Given the description of an element on the screen output the (x, y) to click on. 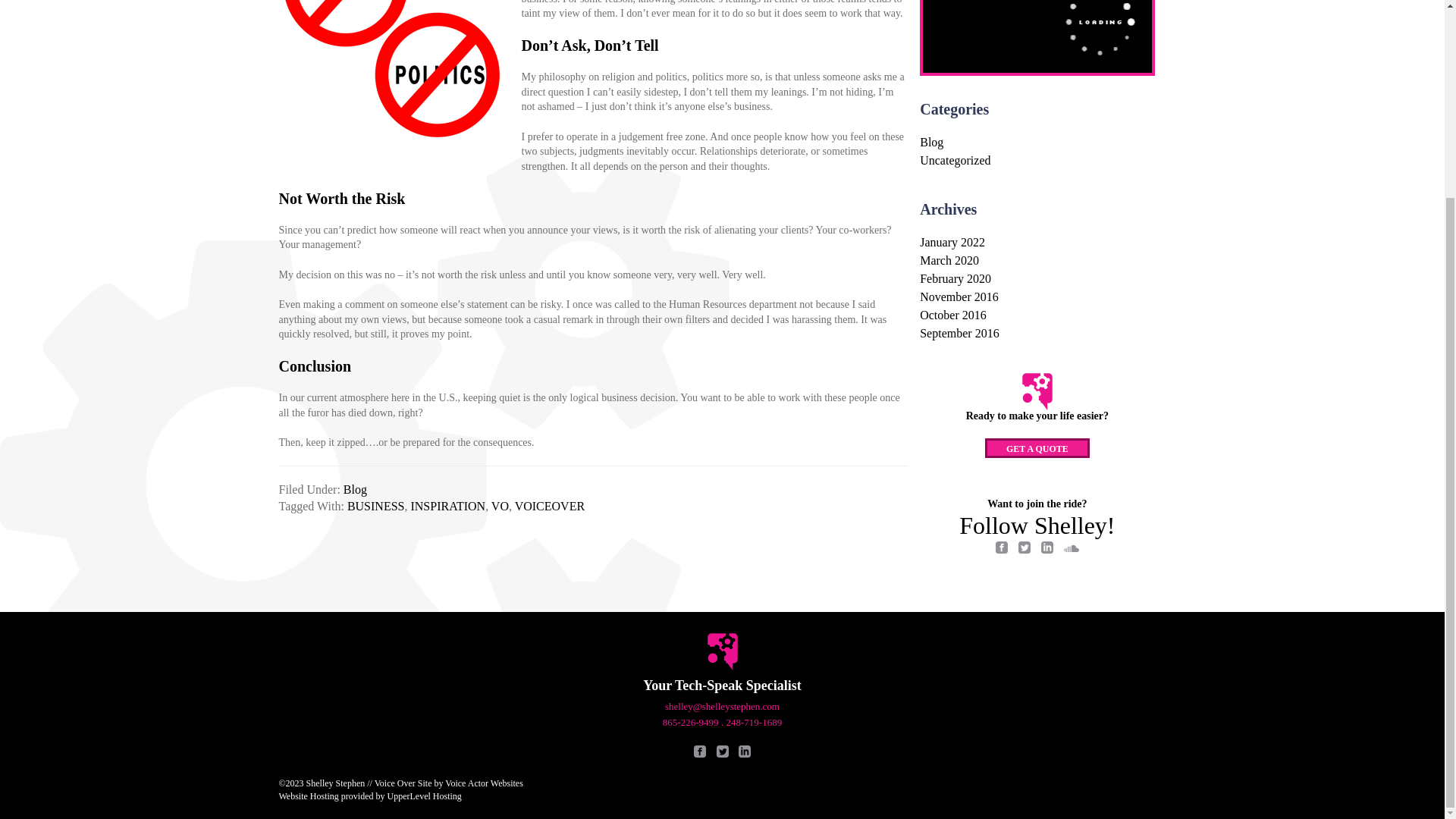
March 2020 (949, 259)
248-719-1689 (754, 722)
Soundcloud (1071, 550)
September 2016 (959, 332)
Linkedin (1046, 550)
Facebook (1001, 550)
Blog (931, 141)
INSPIRATION (447, 505)
865-226-9499 (690, 722)
Facebook (700, 754)
January 2022 (952, 241)
Twitter (1023, 550)
February 2020 (955, 278)
Twitter (722, 754)
GET A QUOTE (1037, 447)
